Given the description of an element on the screen output the (x, y) to click on. 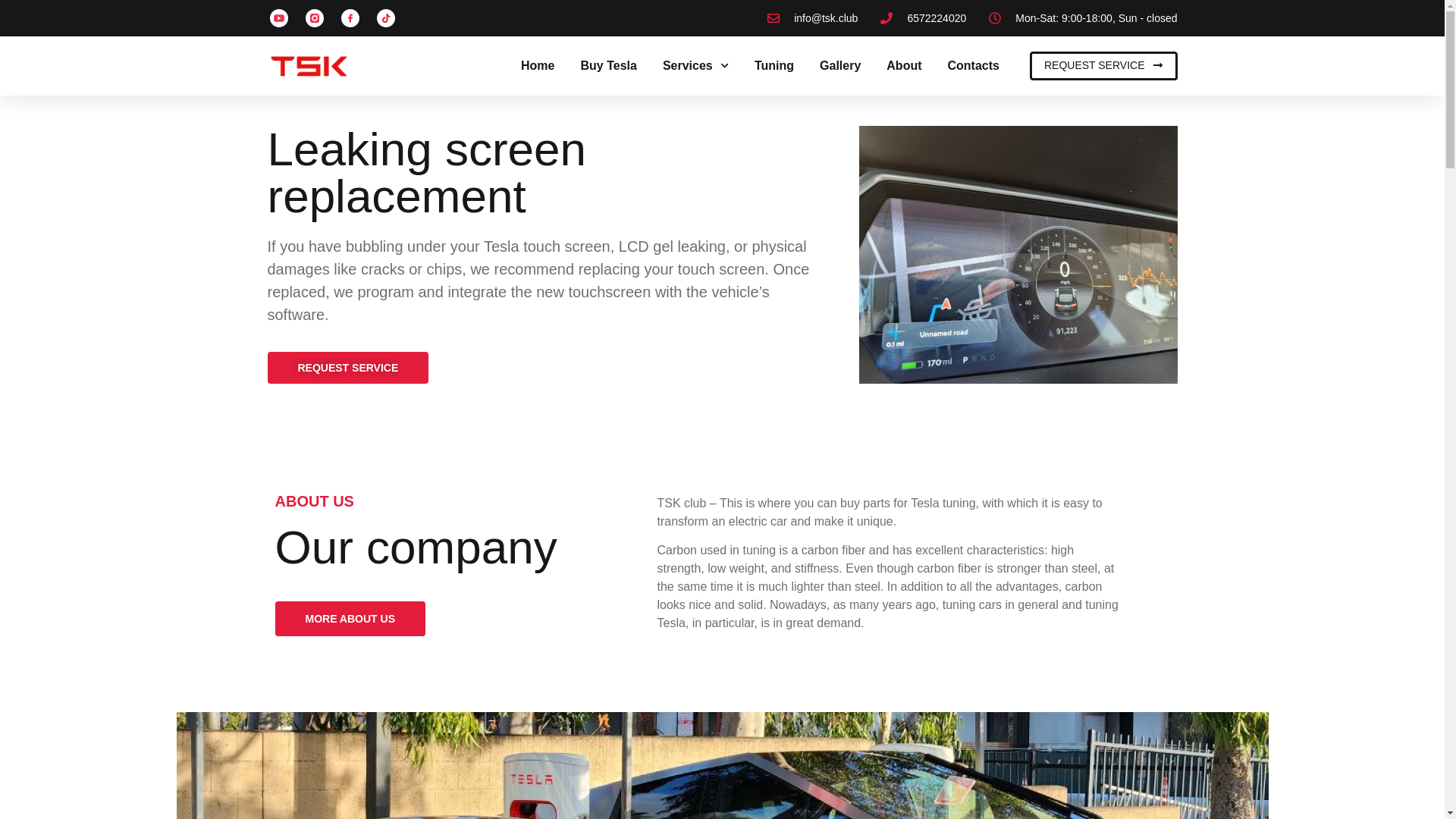
Services (695, 66)
Buy Tesla (607, 66)
Home (537, 66)
